Given the description of an element on the screen output the (x, y) to click on. 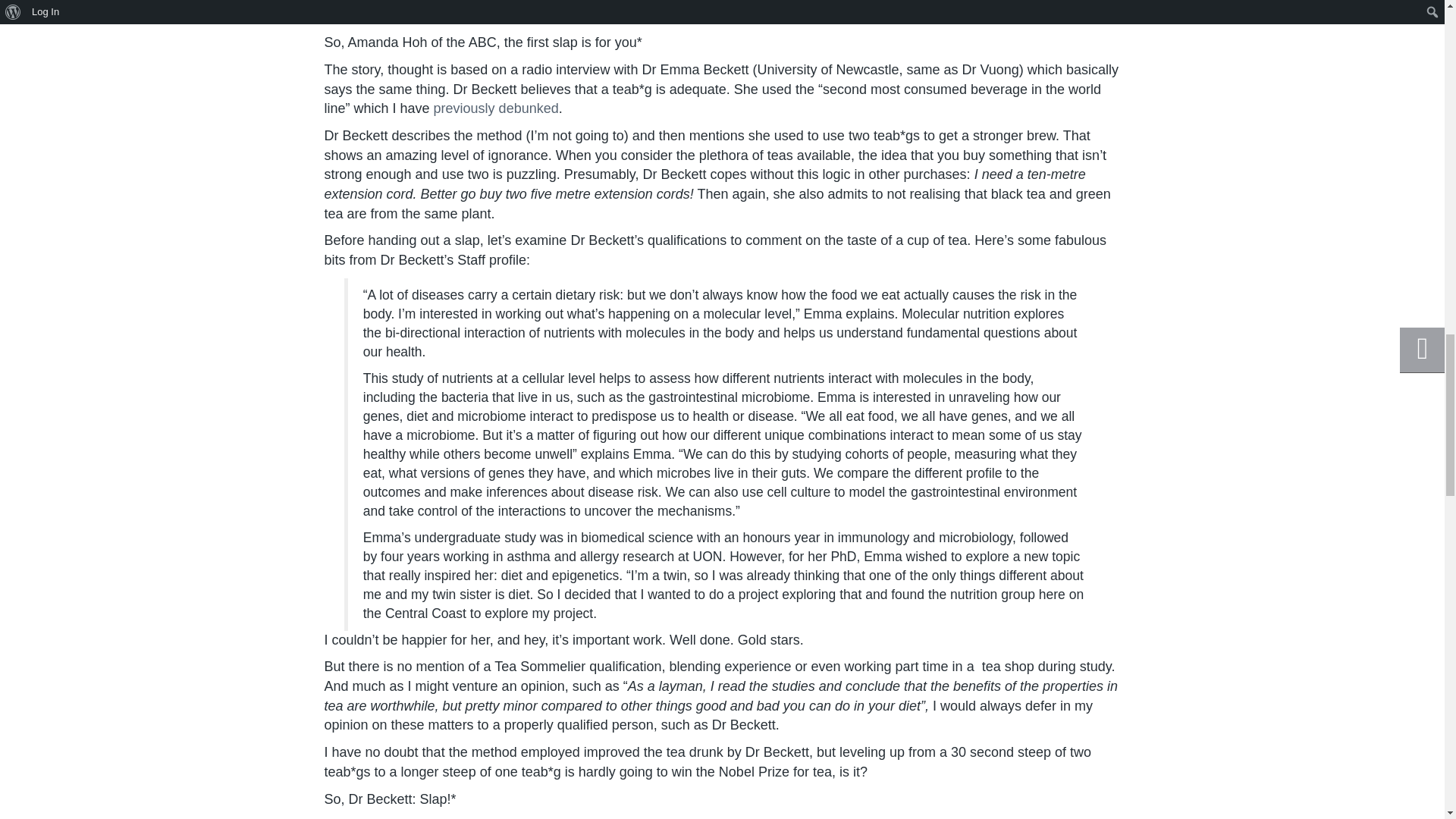
previously debunked (496, 108)
